Given the description of an element on the screen output the (x, y) to click on. 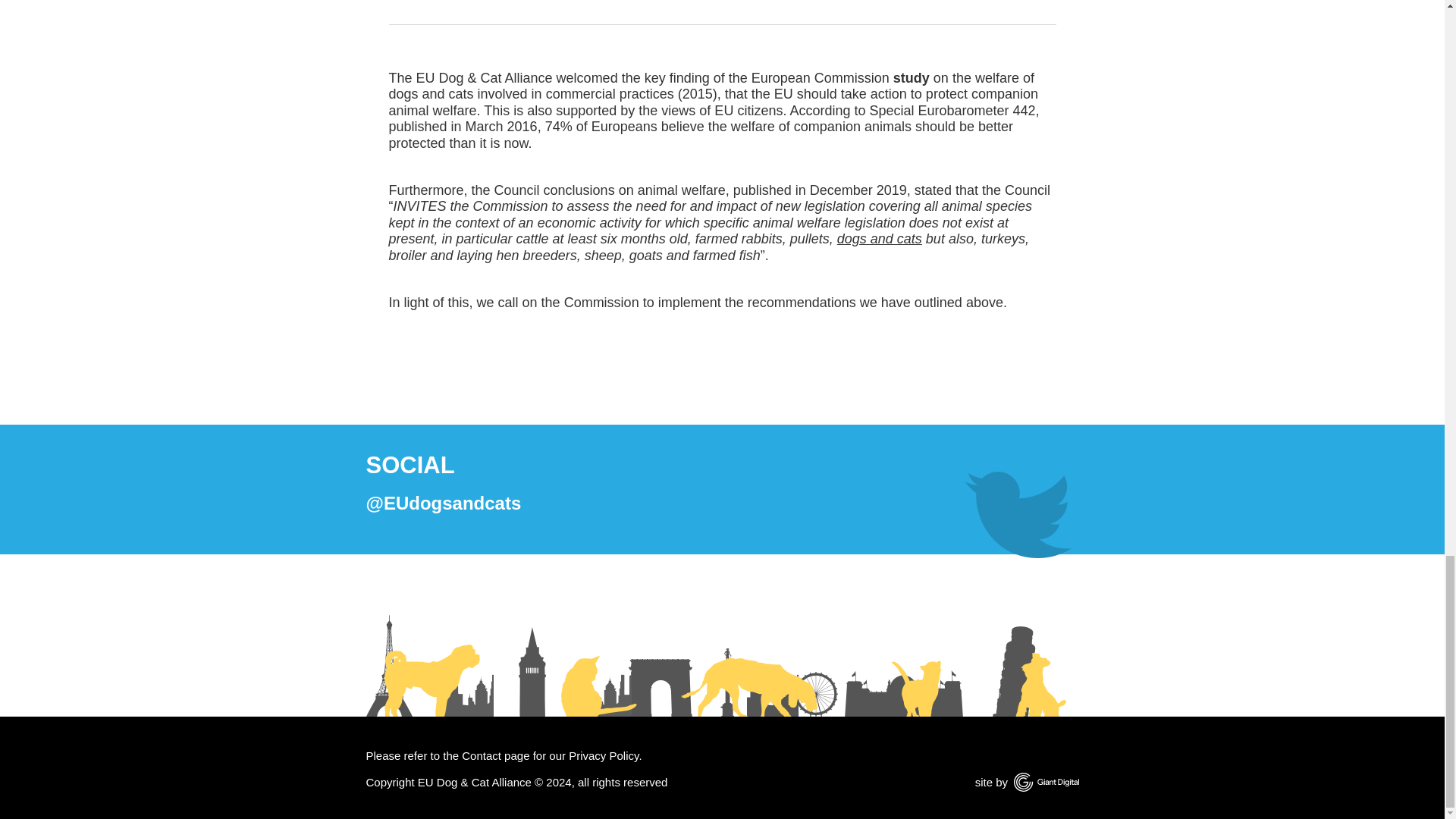
study (911, 77)
